Given the description of an element on the screen output the (x, y) to click on. 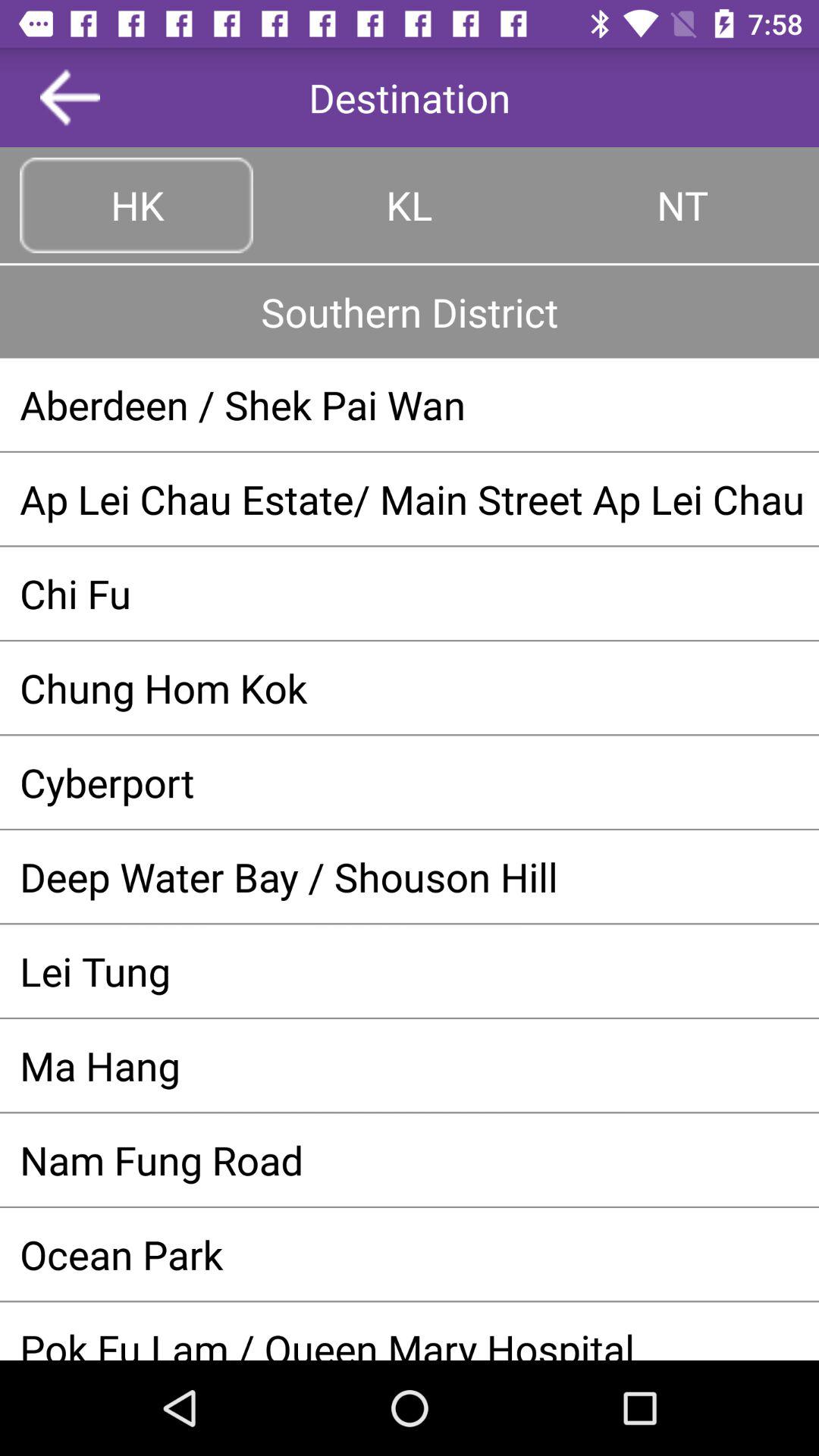
turn on icon next to the destination item (69, 97)
